Given the description of an element on the screen output the (x, y) to click on. 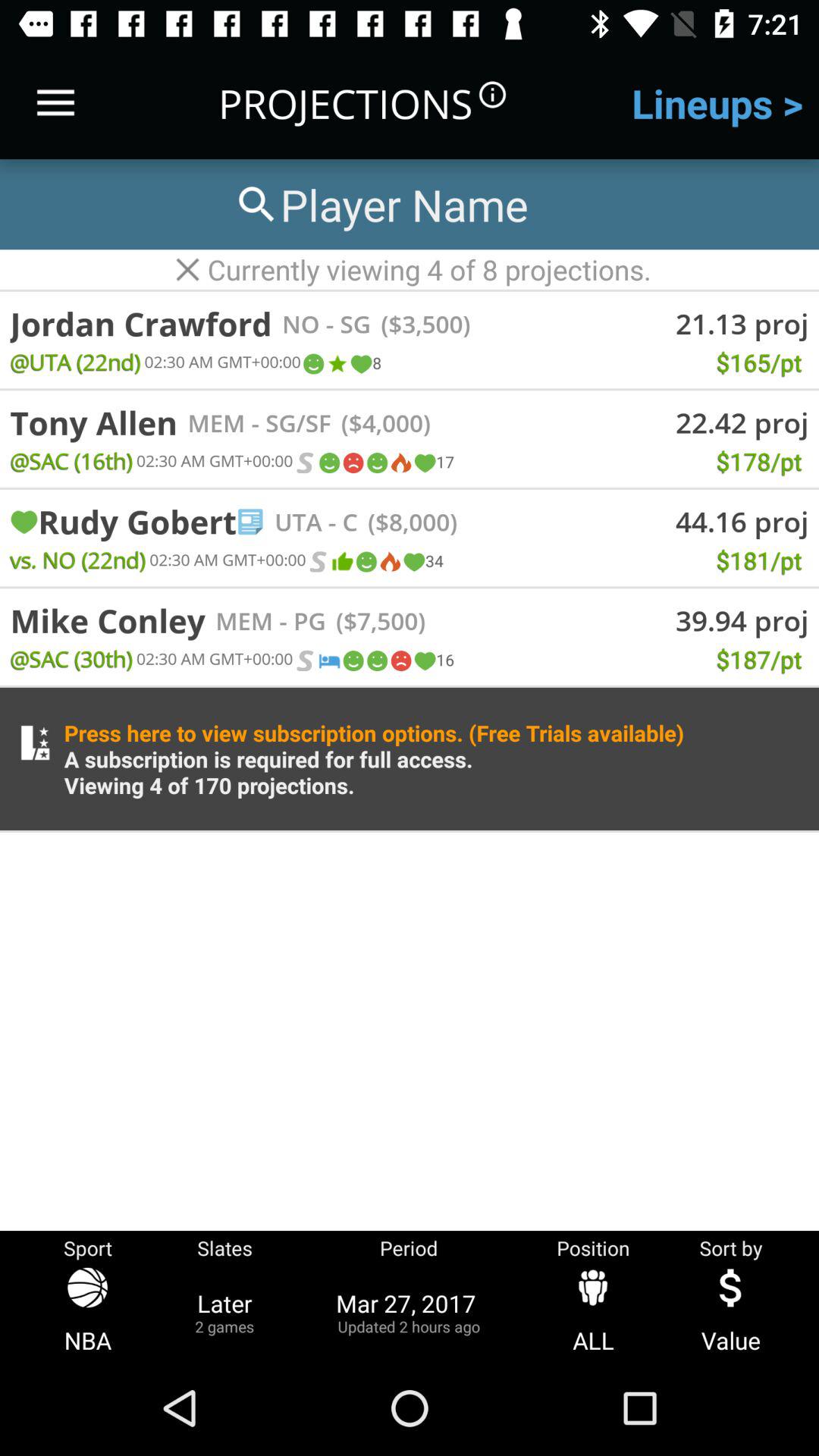
open the icon next to the ($4,000) (288, 422)
